Given the description of an element on the screen output the (x, y) to click on. 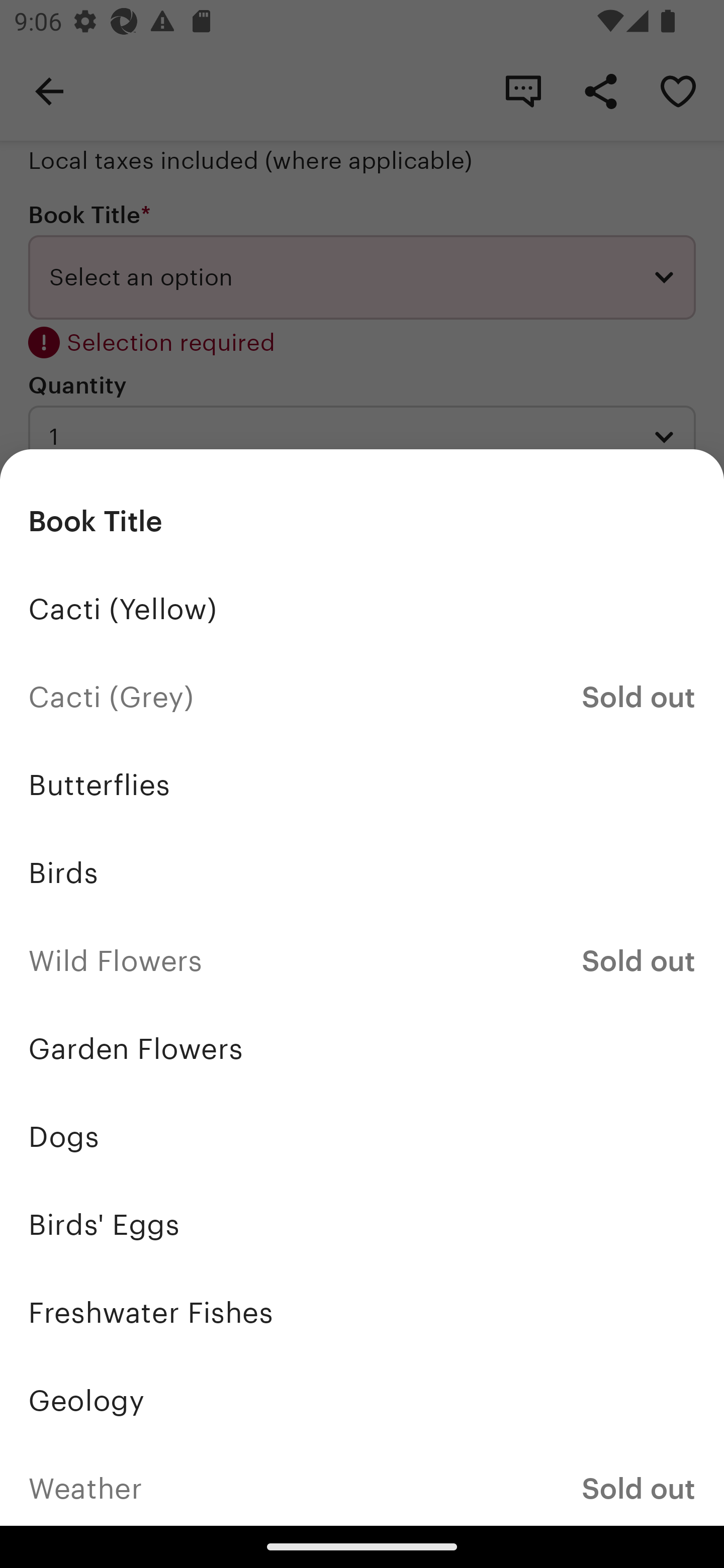
Cacti (Yellow) (362, 609)
Cacti (Grey) Sold out (362, 697)
Butterflies (362, 785)
Birds (362, 873)
Wild Flowers Sold out (362, 961)
Garden Flowers (362, 1048)
Dogs (362, 1136)
Birds' Eggs (362, 1224)
Freshwater Fishes (362, 1312)
Geology (362, 1400)
Weather Sold out (362, 1484)
